Given the description of an element on the screen output the (x, y) to click on. 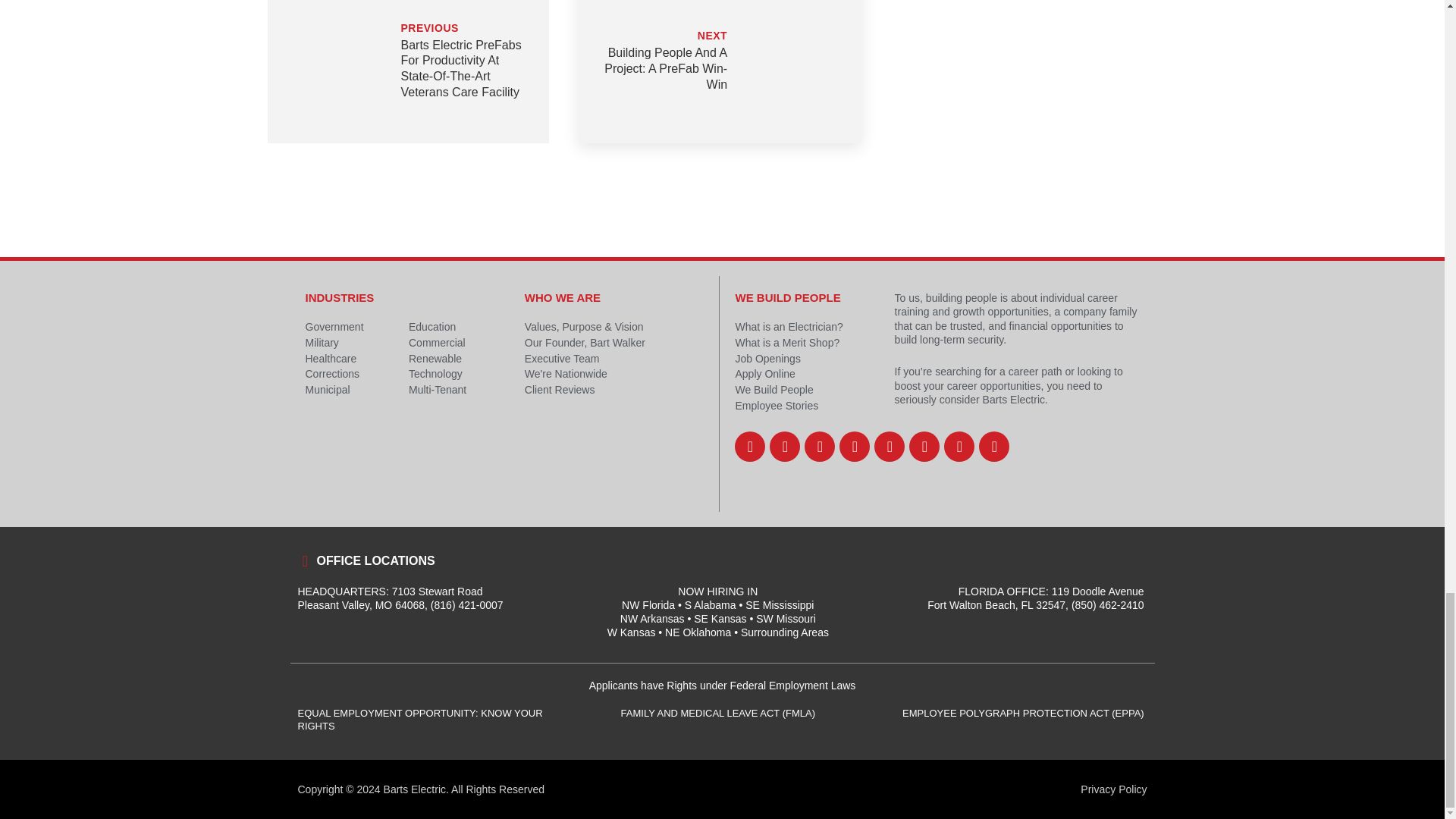
Logo (615, 468)
